Given the description of an element on the screen output the (x, y) to click on. 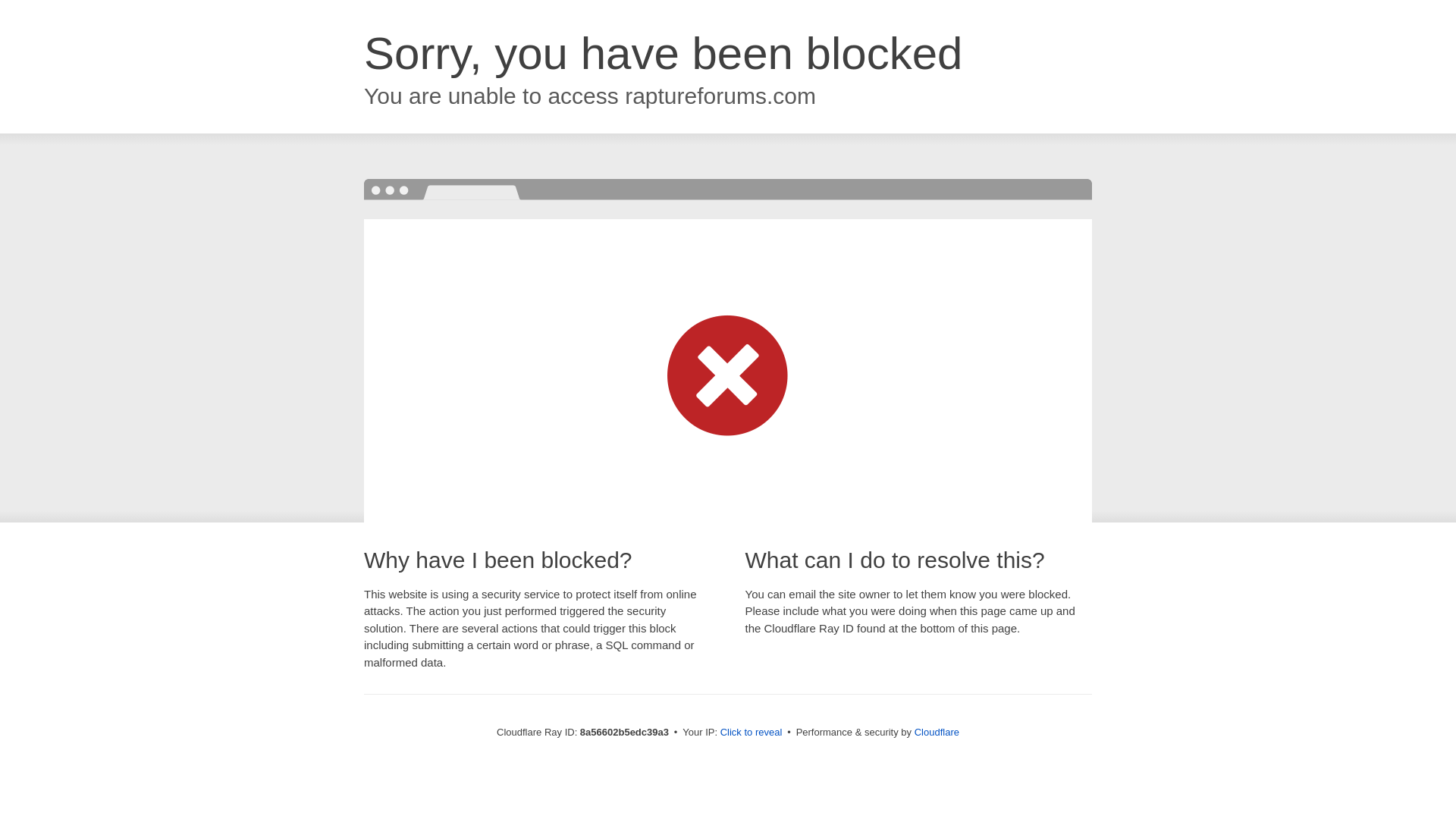
Click to reveal (751, 732)
Cloudflare (936, 731)
